Given the description of an element on the screen output the (x, y) to click on. 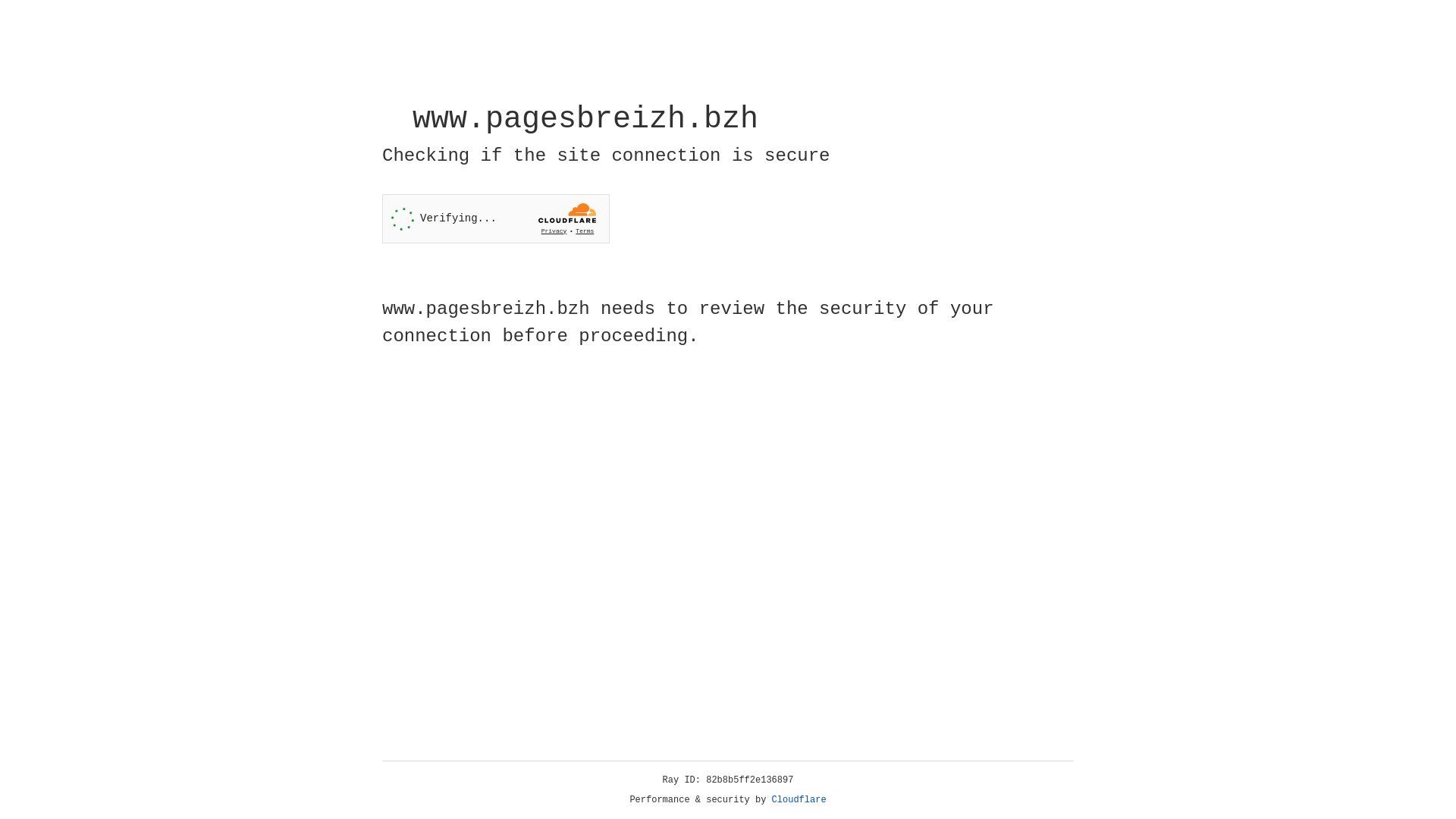
Cloudflare Element type: text (798, 799)
Widget containing a Cloudflare security challenge Element type: hover (495, 218)
